Given the description of an element on the screen output the (x, y) to click on. 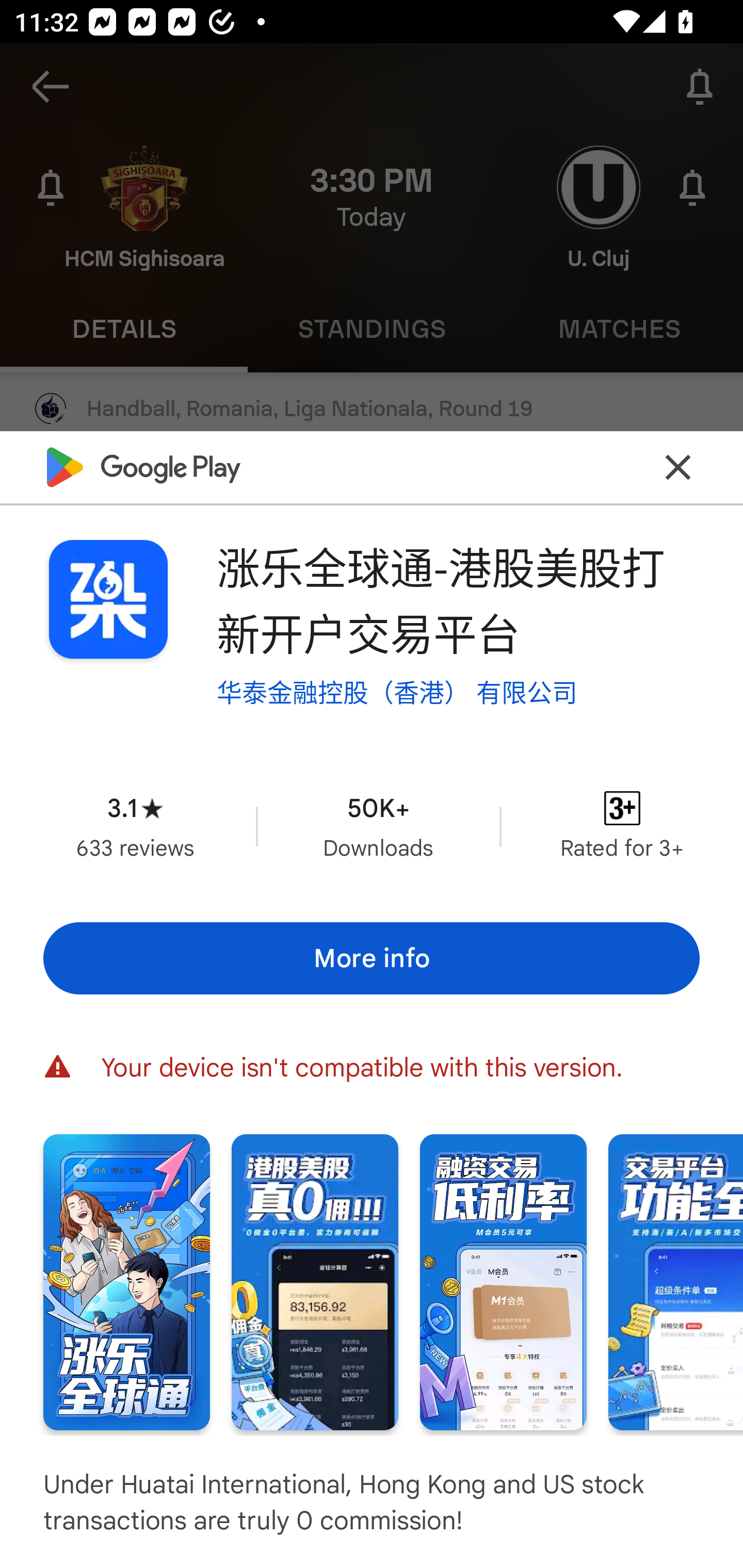
Close (677, 467)
Image of app or game icon for 涨乐全球通-港股美股打新开户交易平台 (108, 599)
华泰金融控股（香港） 有限公司 (396, 692)
More info (371, 957)
Screenshot "1" of "6" (126, 1281)
Screenshot "2" of "6" (314, 1281)
Screenshot "3" of "6" (502, 1281)
Screenshot "4" of "6" (675, 1281)
